Given the description of an element on the screen output the (x, y) to click on. 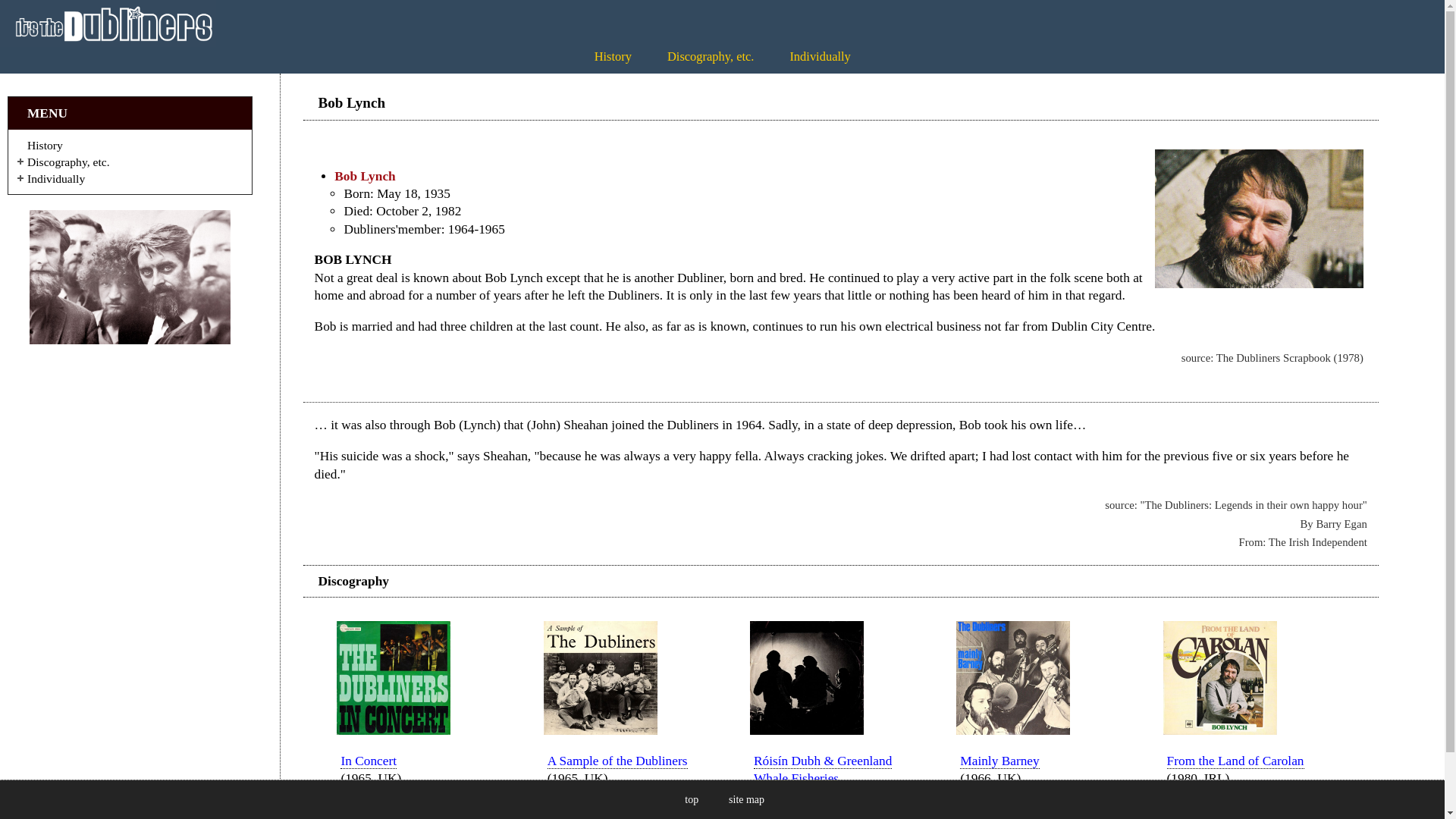
top (691, 799)
site map (746, 799)
A Sample of the Dubliners (617, 761)
A Sample of the Dubliners: 1965 - Transatlantic TRA EP 129 (600, 730)
In Concert (368, 761)
History (612, 56)
Mainly Barney: 1966 - Transatlantic TRA EP 136 (1013, 730)
Mainly Barney (999, 761)
From the Land of Carolan (1235, 761)
Individually (819, 56)
